Given the description of an element on the screen output the (x, y) to click on. 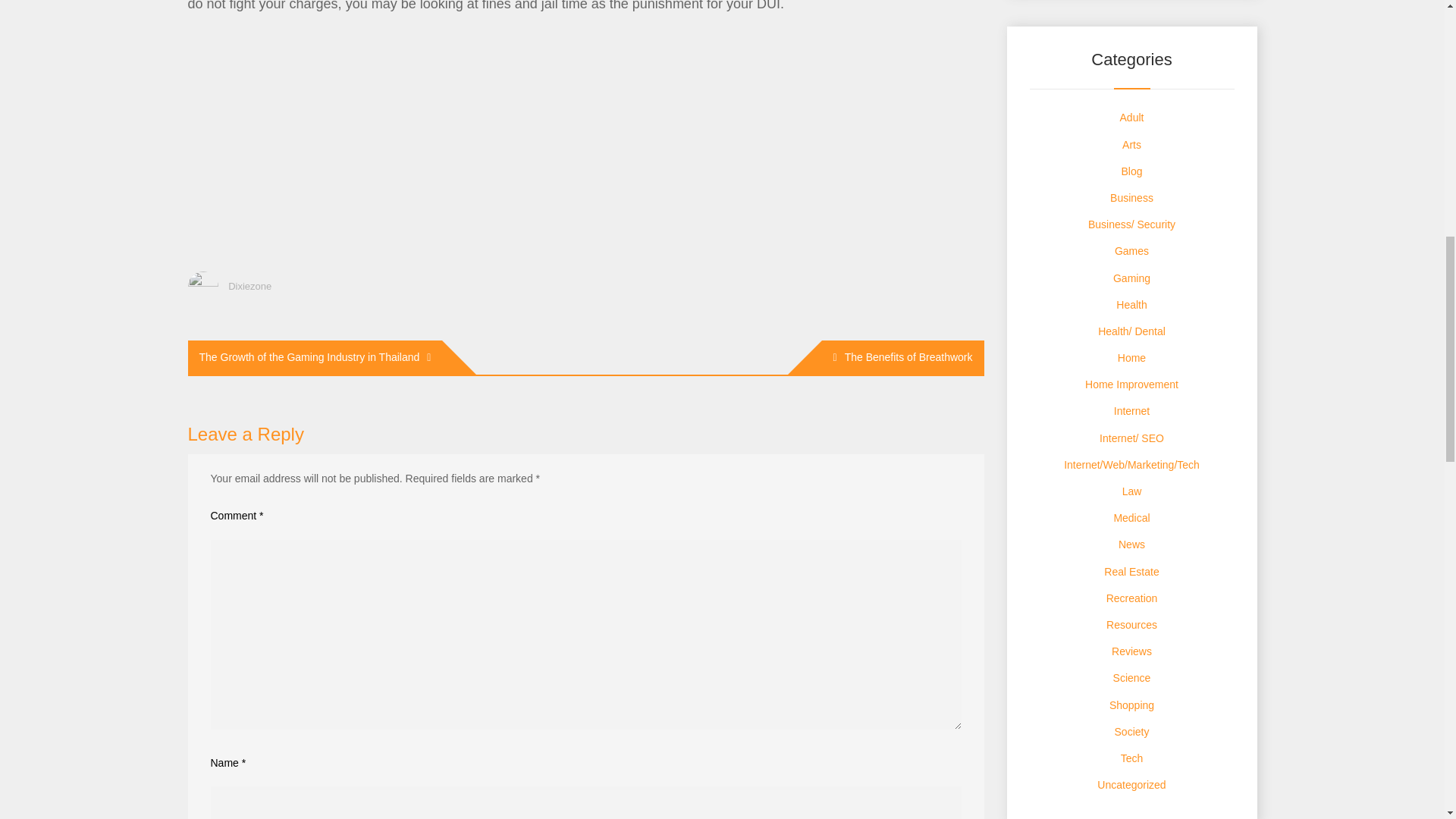
Adult (1131, 117)
Health (1131, 304)
Blog (1131, 171)
Internet (1131, 410)
Games (1131, 250)
Gaming (1131, 277)
Business (1131, 197)
The Benefits of Breathwork (903, 357)
Dixiezone (249, 285)
Home Improvement (1130, 384)
